Given the description of an element on the screen output the (x, y) to click on. 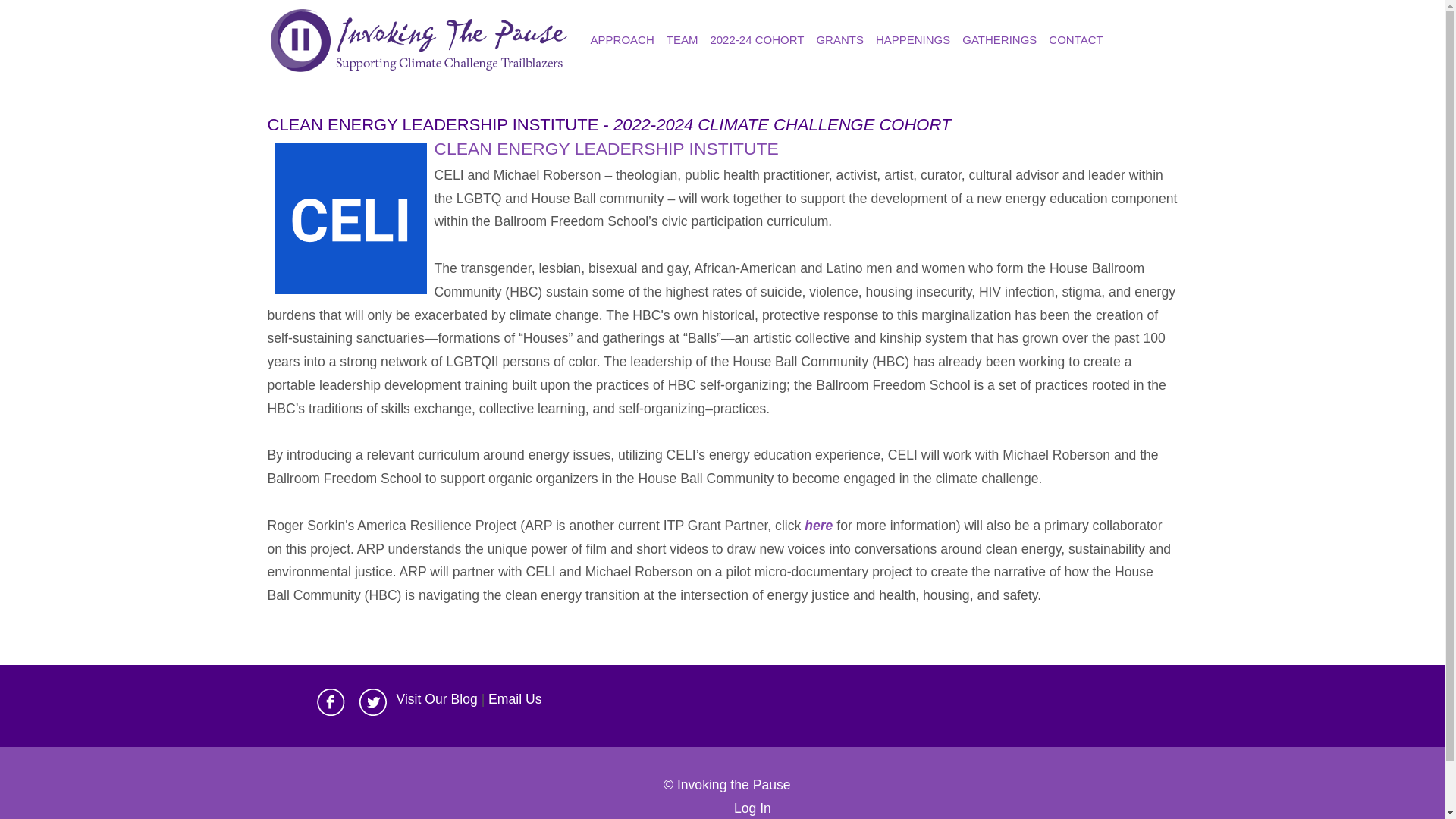
2022-24 COHORT (756, 39)
GATHERINGS (999, 39)
APPROACH (623, 39)
HAPPENINGS (912, 39)
GRANTS (839, 39)
TEAM (682, 39)
